Given the description of an element on the screen output the (x, y) to click on. 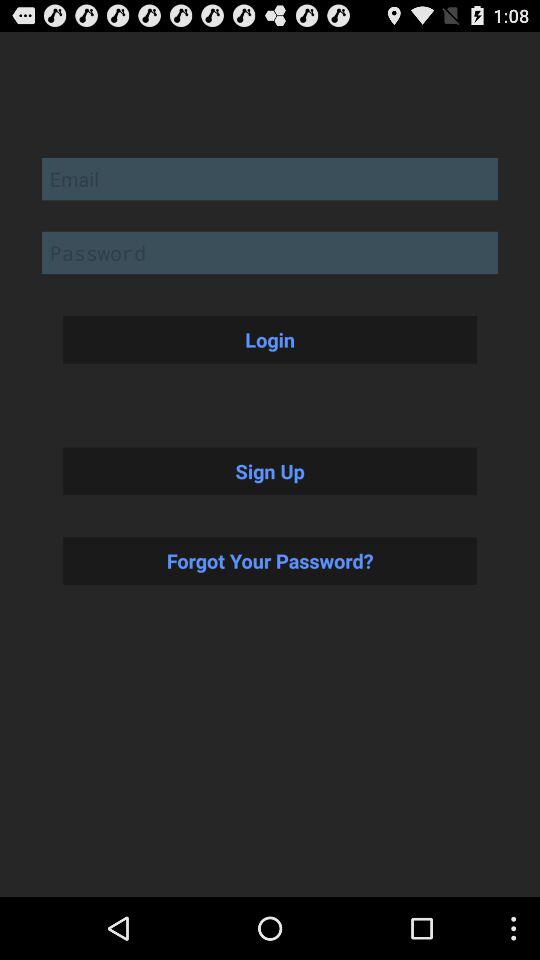
launch icon below login button (269, 471)
